Given the description of an element on the screen output the (x, y) to click on. 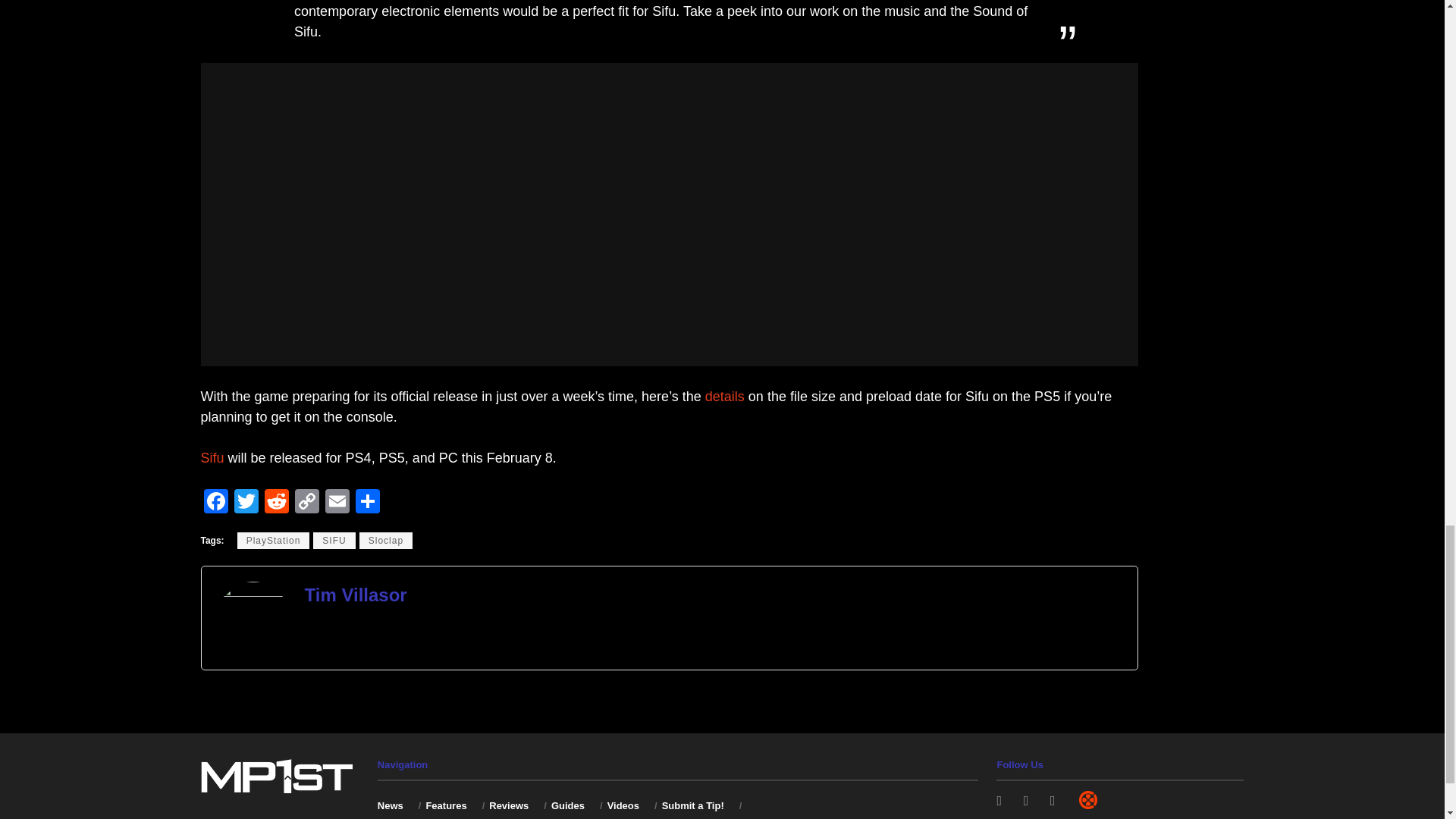
Email (336, 502)
Share (366, 502)
Copy Link (306, 502)
PlayStation (273, 540)
Facebook (215, 502)
details (724, 396)
Twitter (245, 502)
Reddit (275, 502)
Email (336, 502)
Sifu (212, 458)
